Given the description of an element on the screen output the (x, y) to click on. 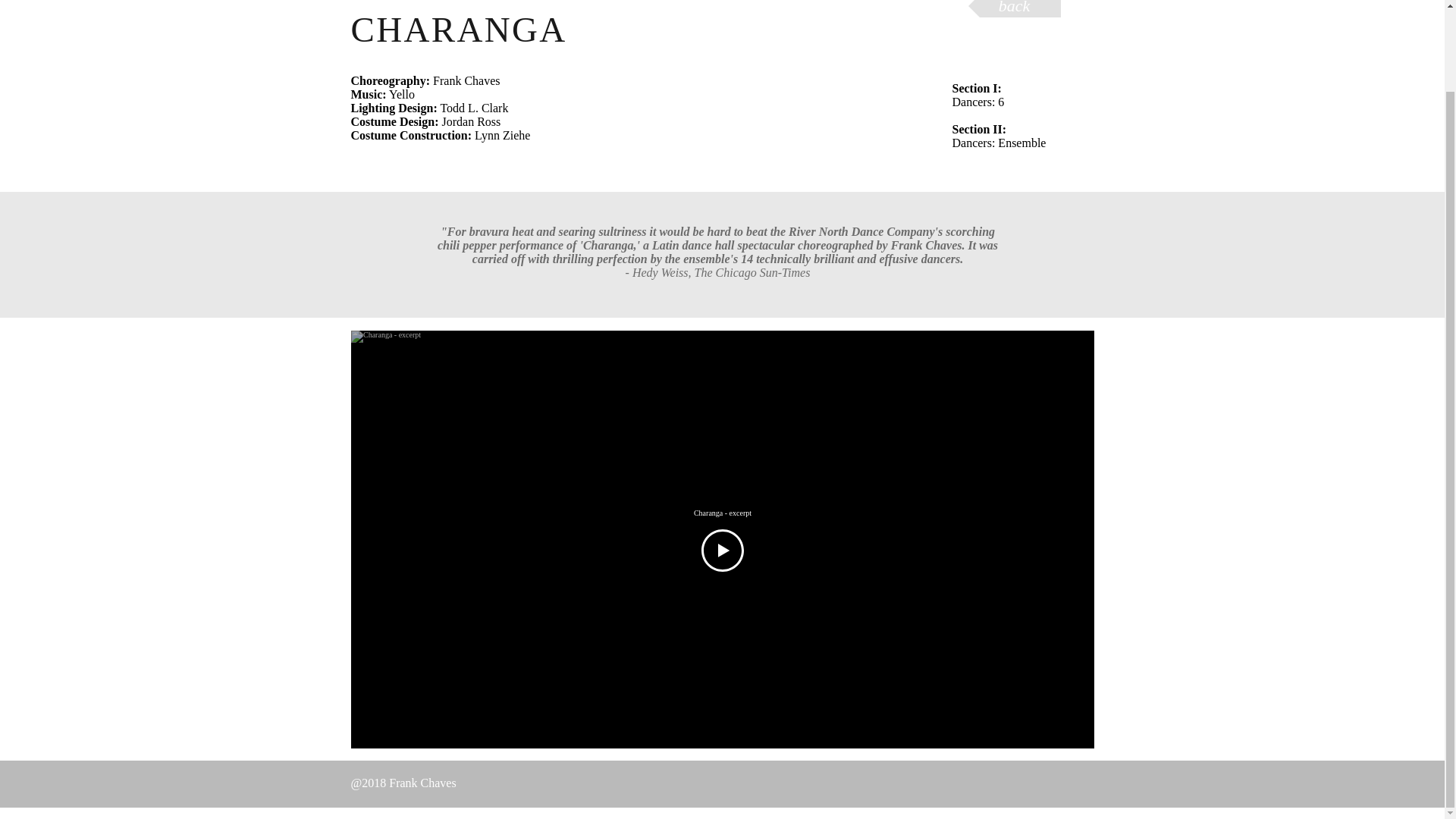
Charanga - excerpt (721, 513)
back (1013, 8)
